Given the description of an element on the screen output the (x, y) to click on. 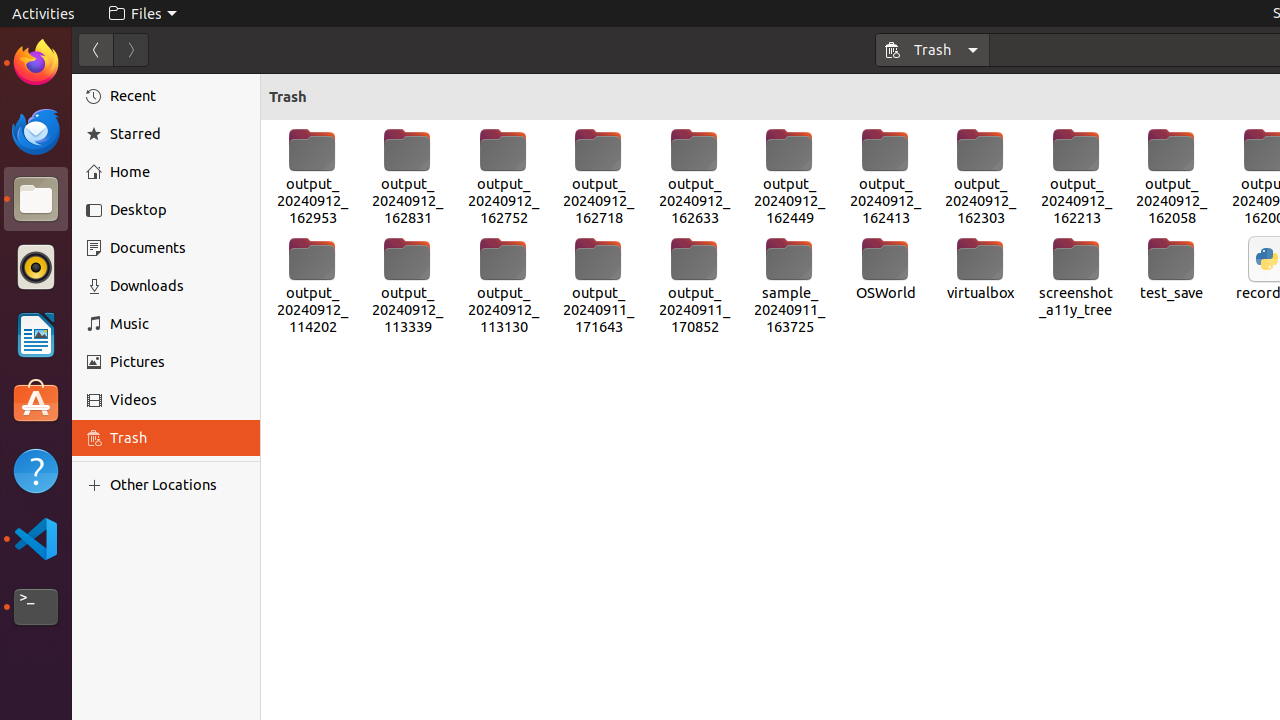
output_20240912_113339 Element type: canvas (408, 286)
Trash Element type: push-button (933, 50)
output_20240911_170852 Element type: canvas (694, 286)
output_20240912_113130 Element type: canvas (503, 286)
